Given the description of an element on the screen output the (x, y) to click on. 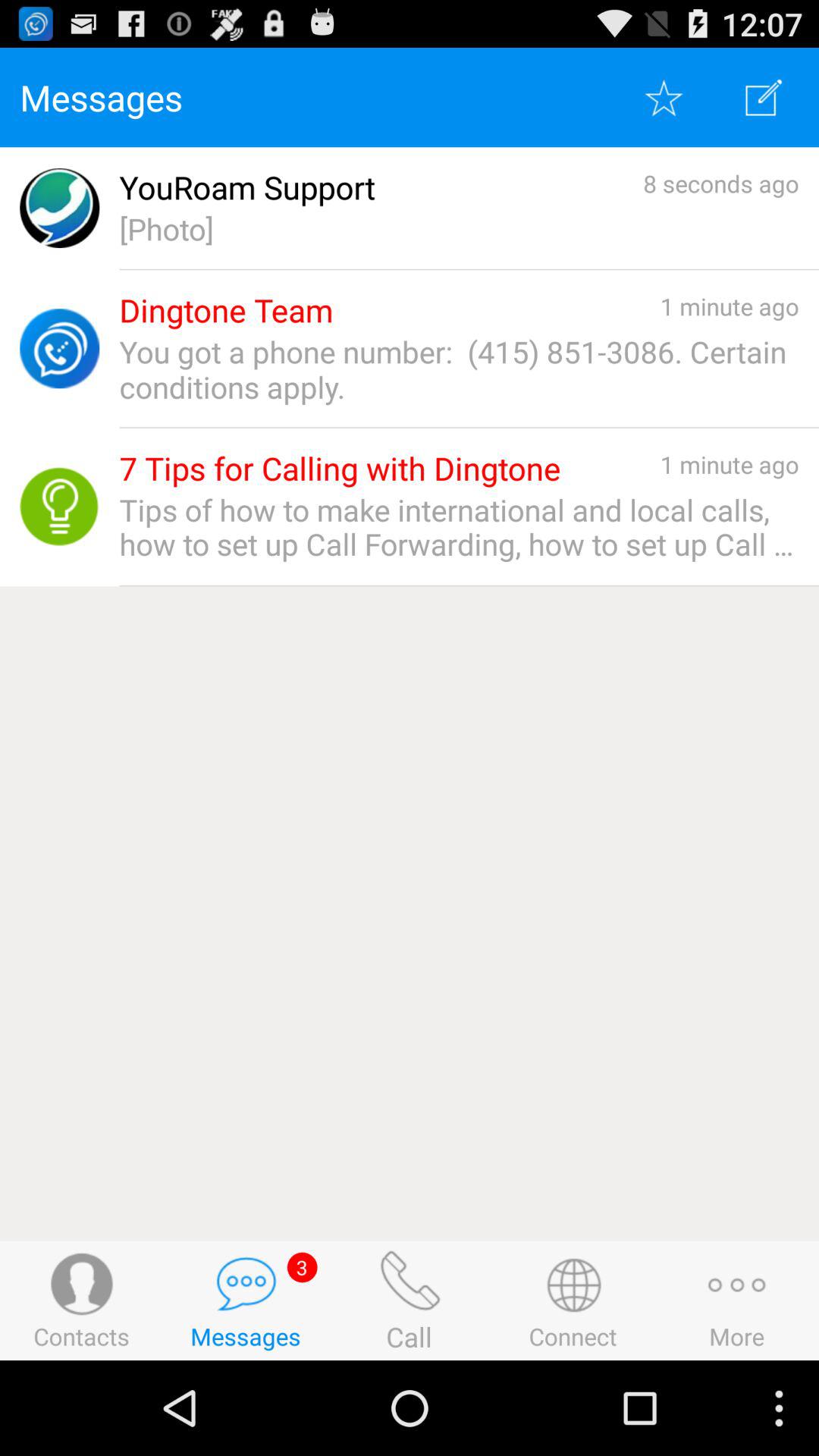
open [photo] item (459, 228)
